Given the description of an element on the screen output the (x, y) to click on. 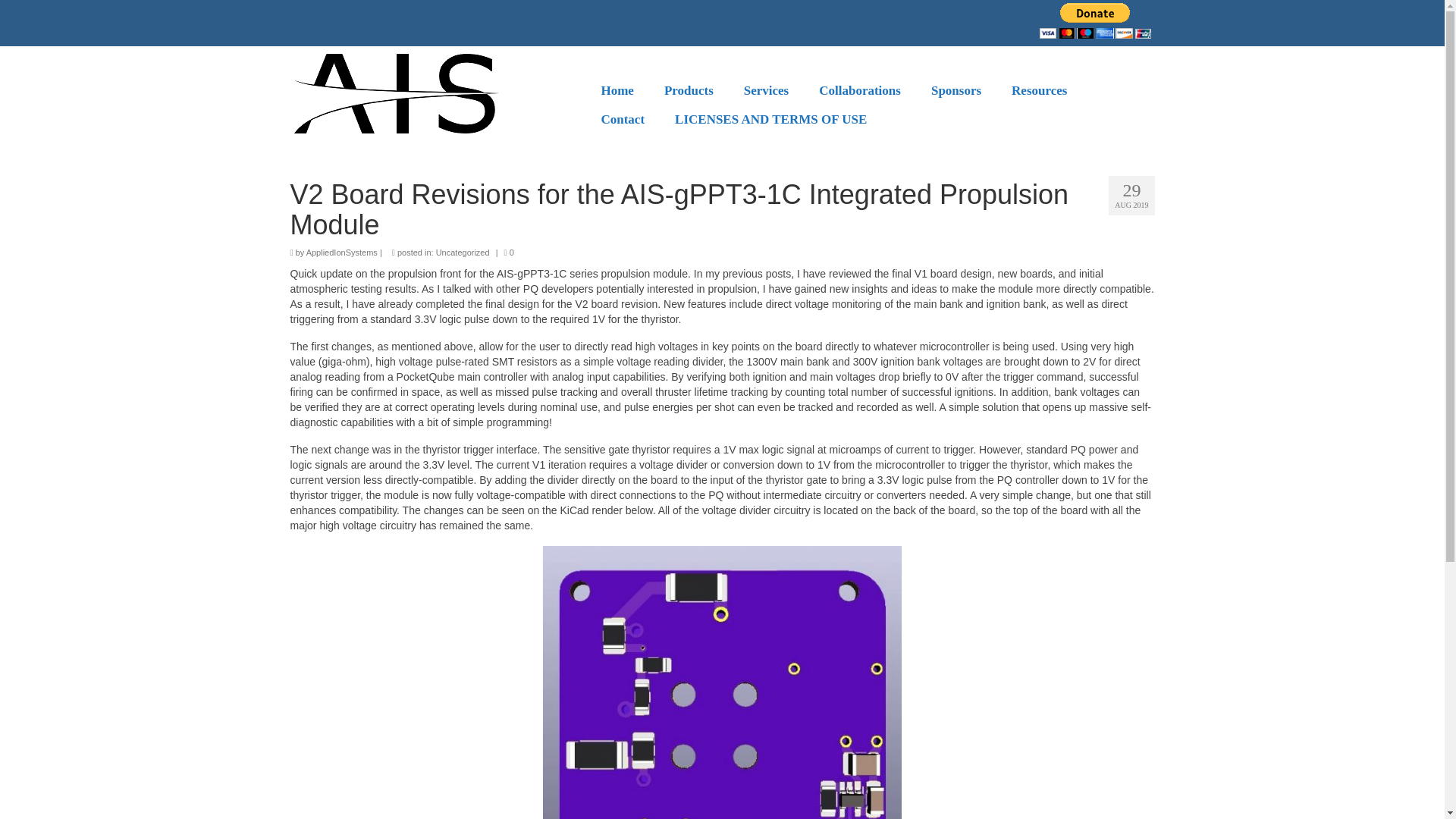
Services (766, 90)
Contact (622, 119)
Home (616, 90)
Resources (1038, 90)
Uncategorized (462, 252)
Sponsors (955, 90)
Products (689, 90)
AppliedIonSystems (341, 252)
Collaborations (859, 90)
LICENSES AND TERMS OF USE (770, 119)
